Given the description of an element on the screen output the (x, y) to click on. 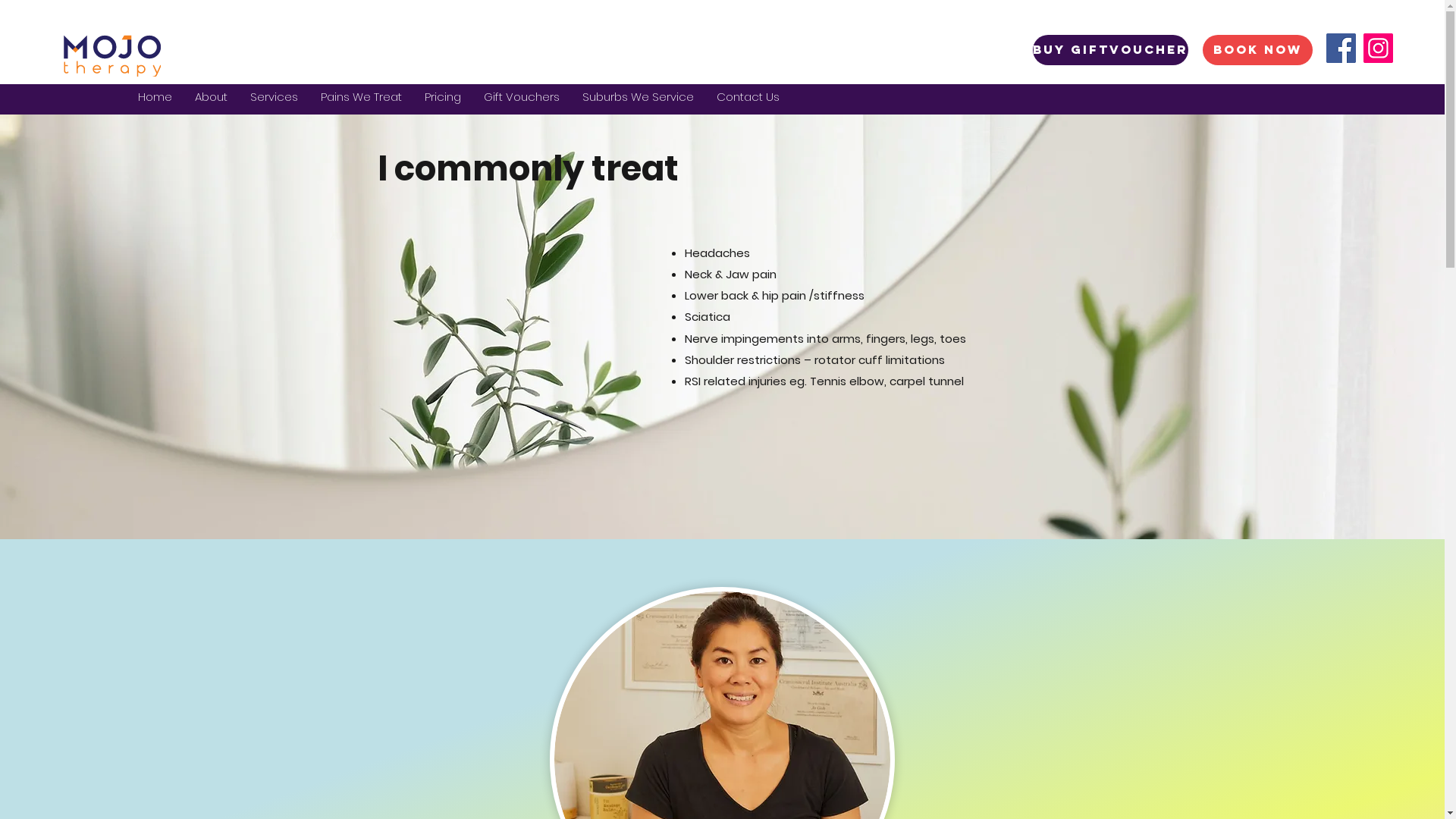
BOOK NOW Element type: text (1257, 49)
Buy GiftVoucher Element type: text (1110, 49)
Pricing Element type: text (442, 96)
About Element type: text (210, 96)
Home Element type: text (154, 96)
Contact Us Element type: text (747, 96)
Gift Vouchers Element type: text (521, 96)
Suburbs We Service Element type: text (638, 96)
